Given the description of an element on the screen output the (x, y) to click on. 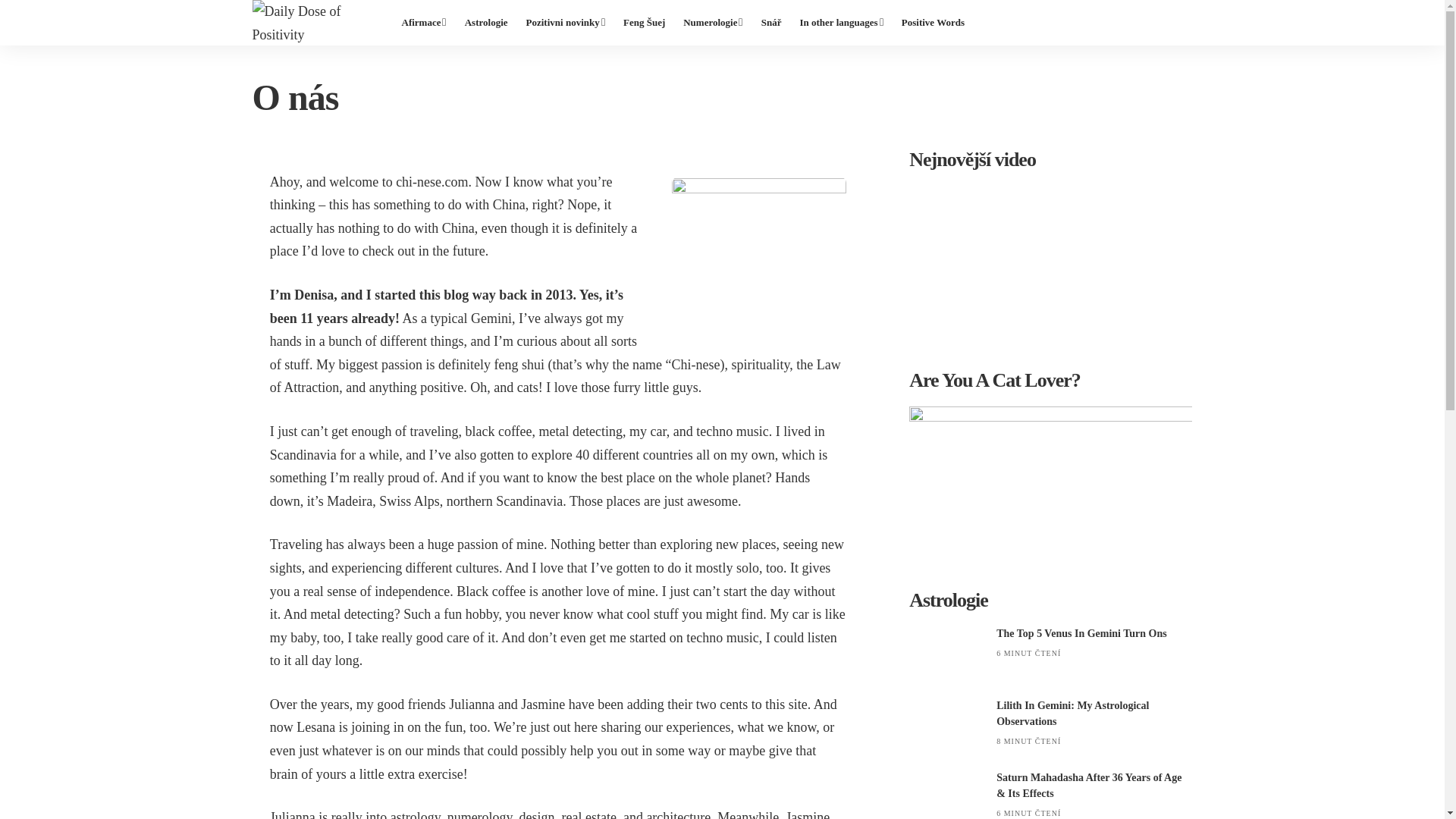
Astrologie (485, 22)
Pozitivni novinky (565, 22)
The Top 5 Venus In Gemini Turn Ons (946, 653)
In other languages (840, 22)
Lilith In Gemini: My Astrological Observations (946, 725)
Daily Dose of Positivity (314, 22)
Afirmace (424, 22)
Numerologie (713, 22)
Positive Words (933, 22)
